Given the description of an element on the screen output the (x, y) to click on. 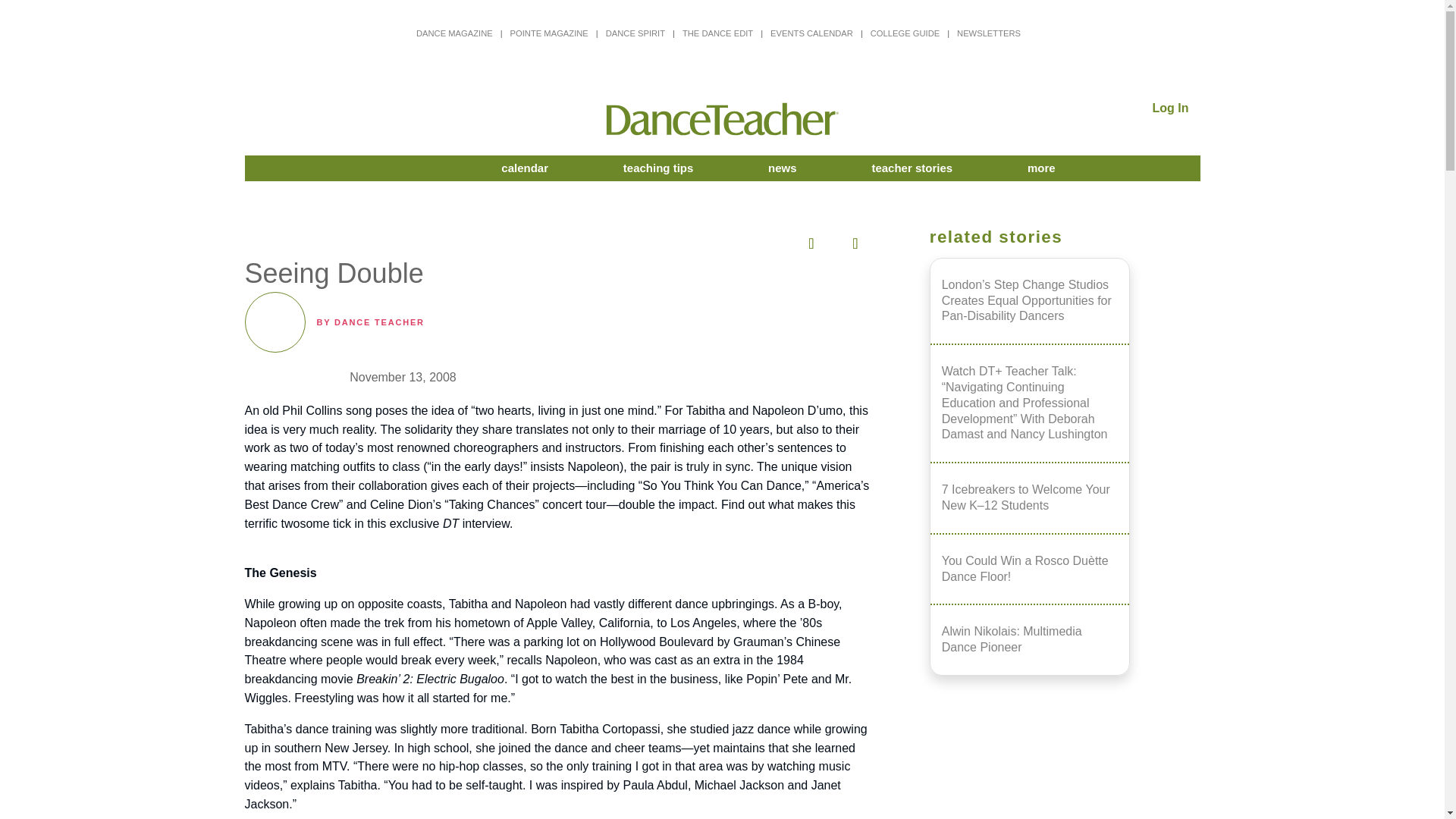
teacher stories (911, 167)
THE DANCE EDIT (717, 32)
calendar (524, 167)
Follow on Twitter (676, 239)
Members (369, 167)
EVENTS CALENDAR (811, 32)
NEWSLETTERS (988, 32)
Log In (1171, 107)
Follow on Pinterest (720, 239)
COLLEGE GUIDE (904, 32)
